Given the description of an element on the screen output the (x, y) to click on. 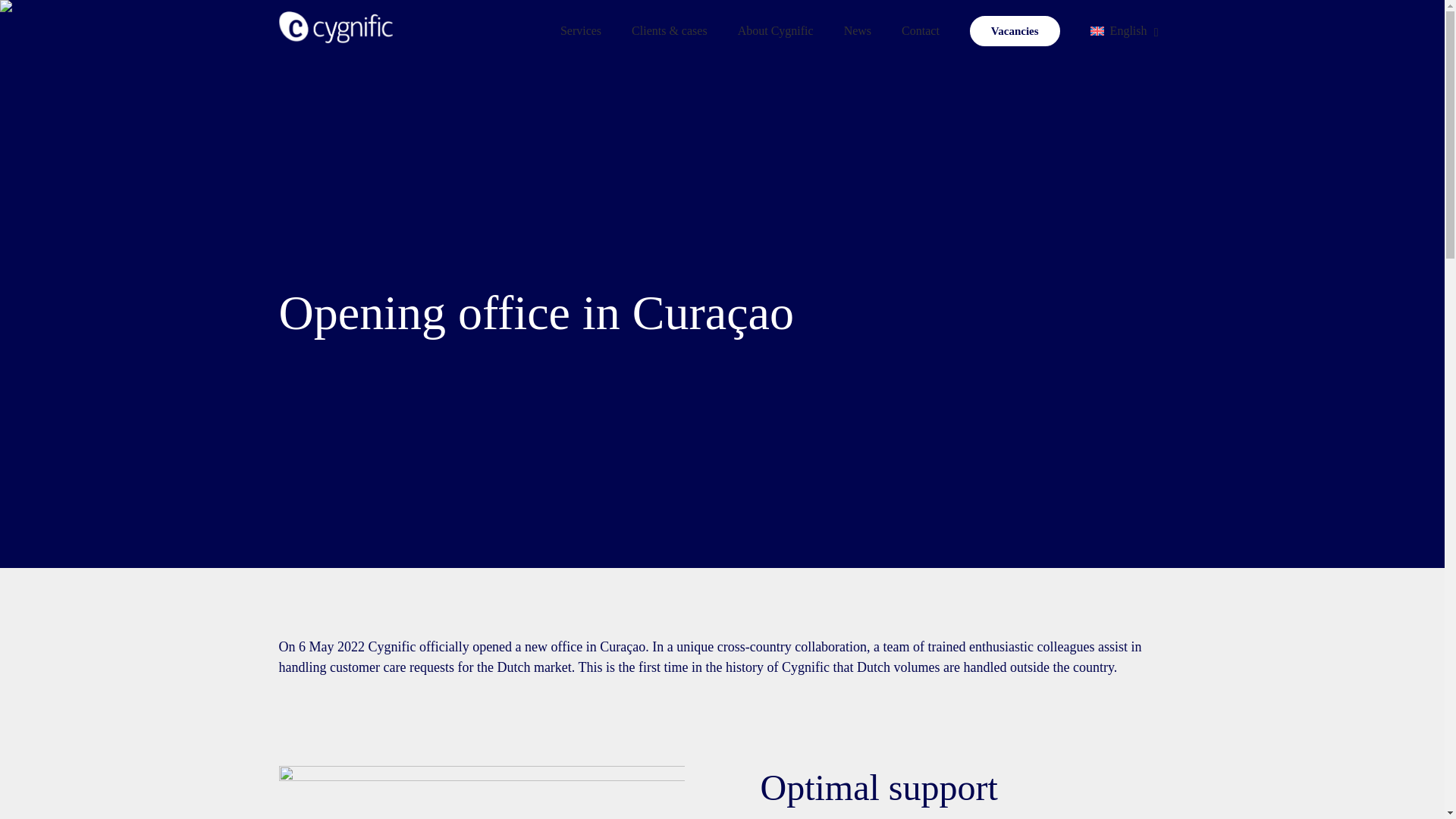
Contact (920, 31)
Vacancies (1015, 31)
English (1120, 31)
Services (579, 31)
English (1120, 31)
About Cygnific (775, 31)
News (857, 31)
